Given the description of an element on the screen output the (x, y) to click on. 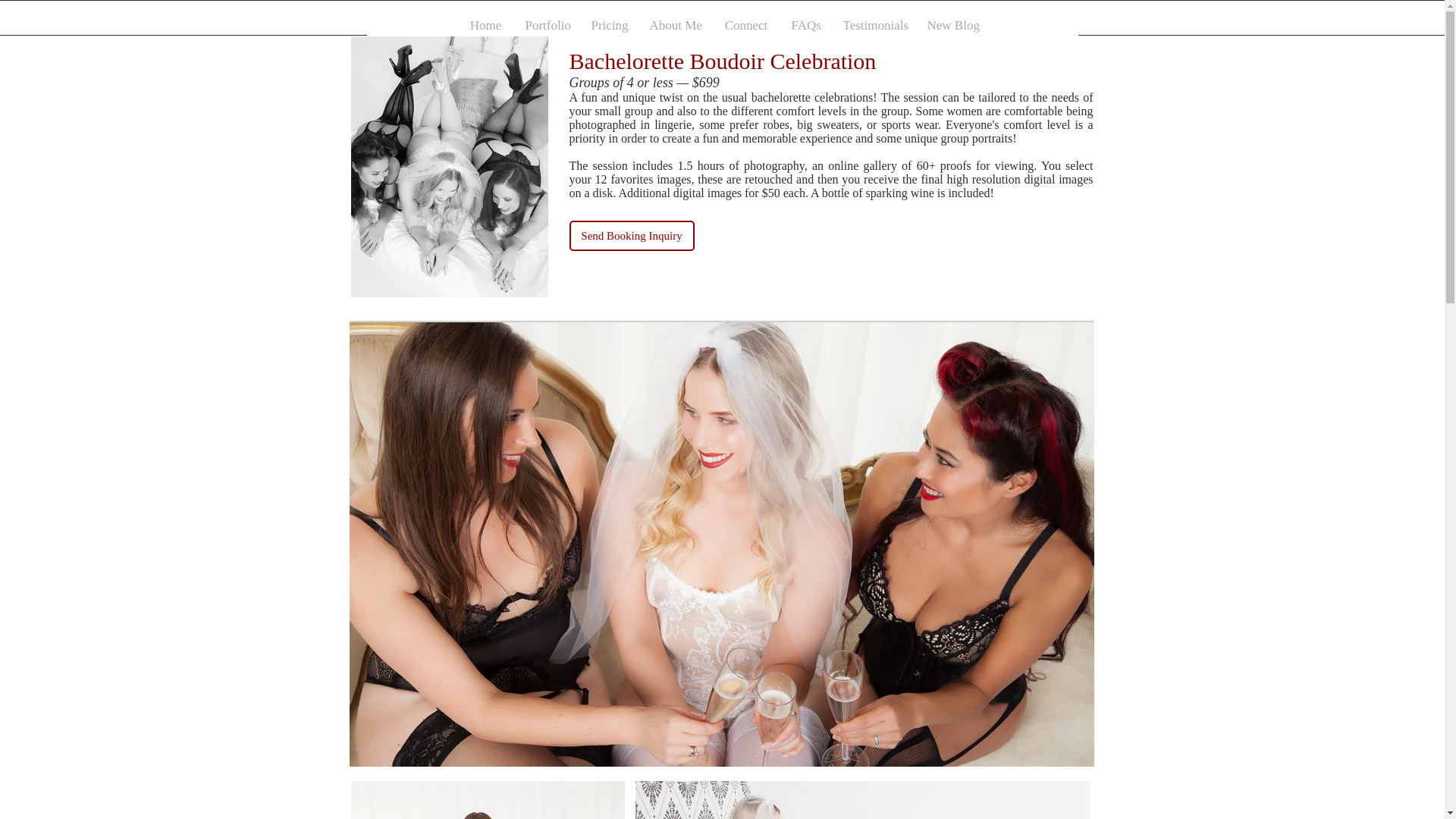
Send Booking Inquiry (631, 235)
FAQs (804, 25)
Connect (745, 25)
New Blog (950, 25)
Testimonials (873, 25)
Pricing (608, 25)
About Me (674, 25)
Home (485, 25)
